Given the description of an element on the screen output the (x, y) to click on. 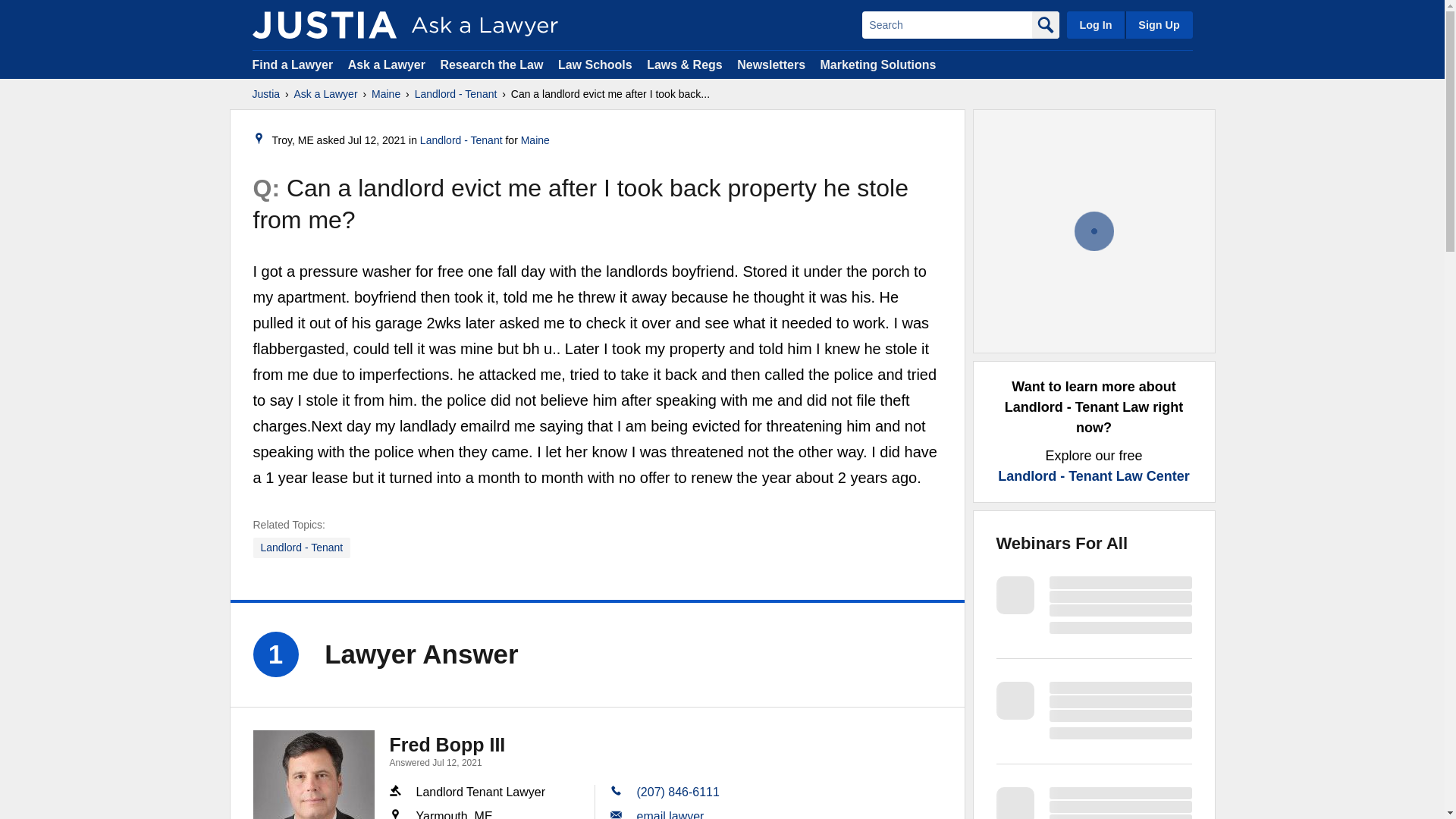
Find a Lawyer (292, 64)
Law Schools (594, 64)
Marketing Solutions (877, 64)
Ask a Lawyer (326, 93)
Ask a Lawyer (388, 64)
Maine (535, 140)
Fred Bopp III (447, 744)
Research the Law (491, 64)
Justia (323, 24)
Search (945, 24)
